Given the description of an element on the screen output the (x, y) to click on. 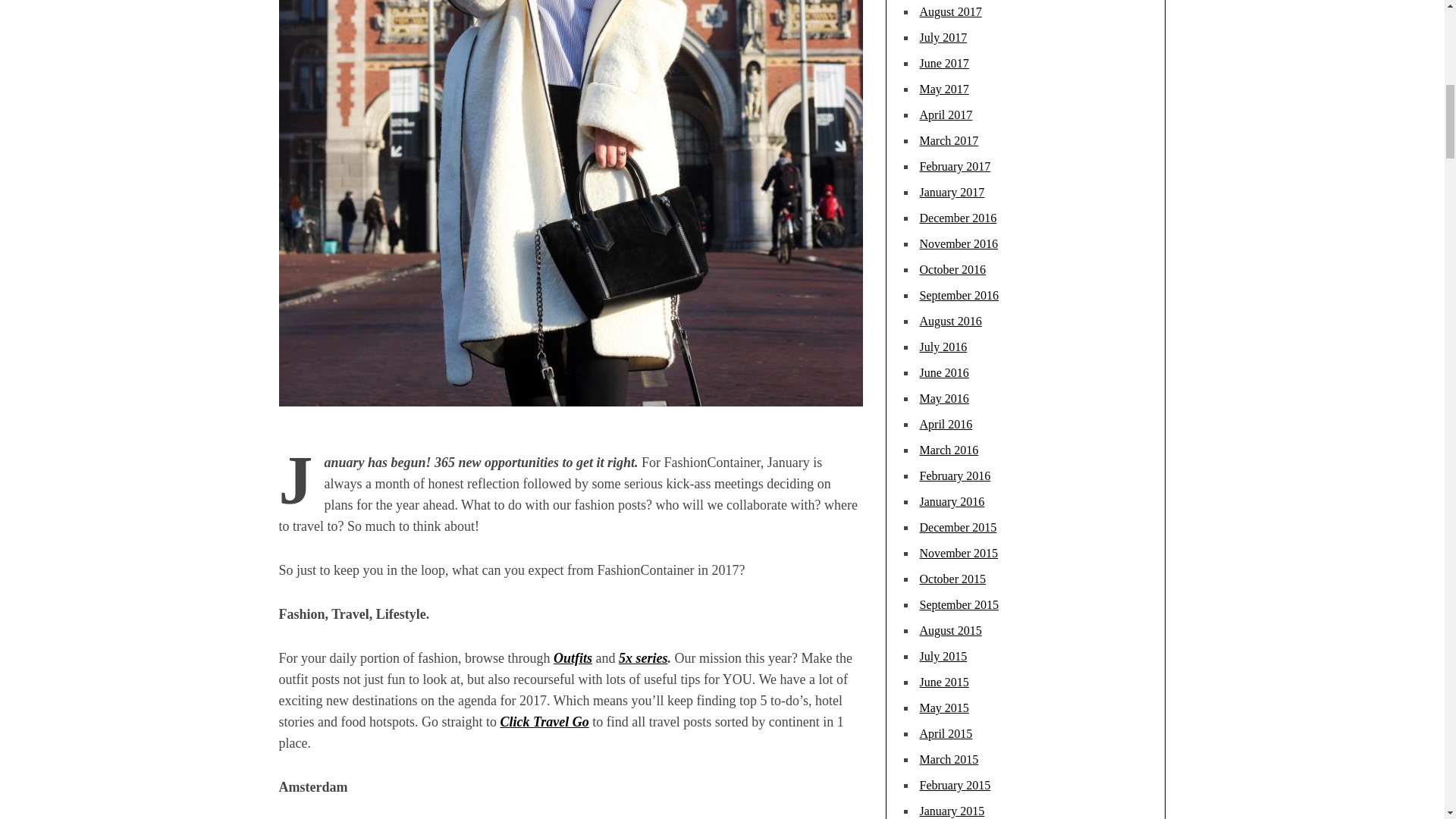
Outfits (572, 657)
Click Travel Go (543, 721)
5x series (643, 657)
